Given the description of an element on the screen output the (x, y) to click on. 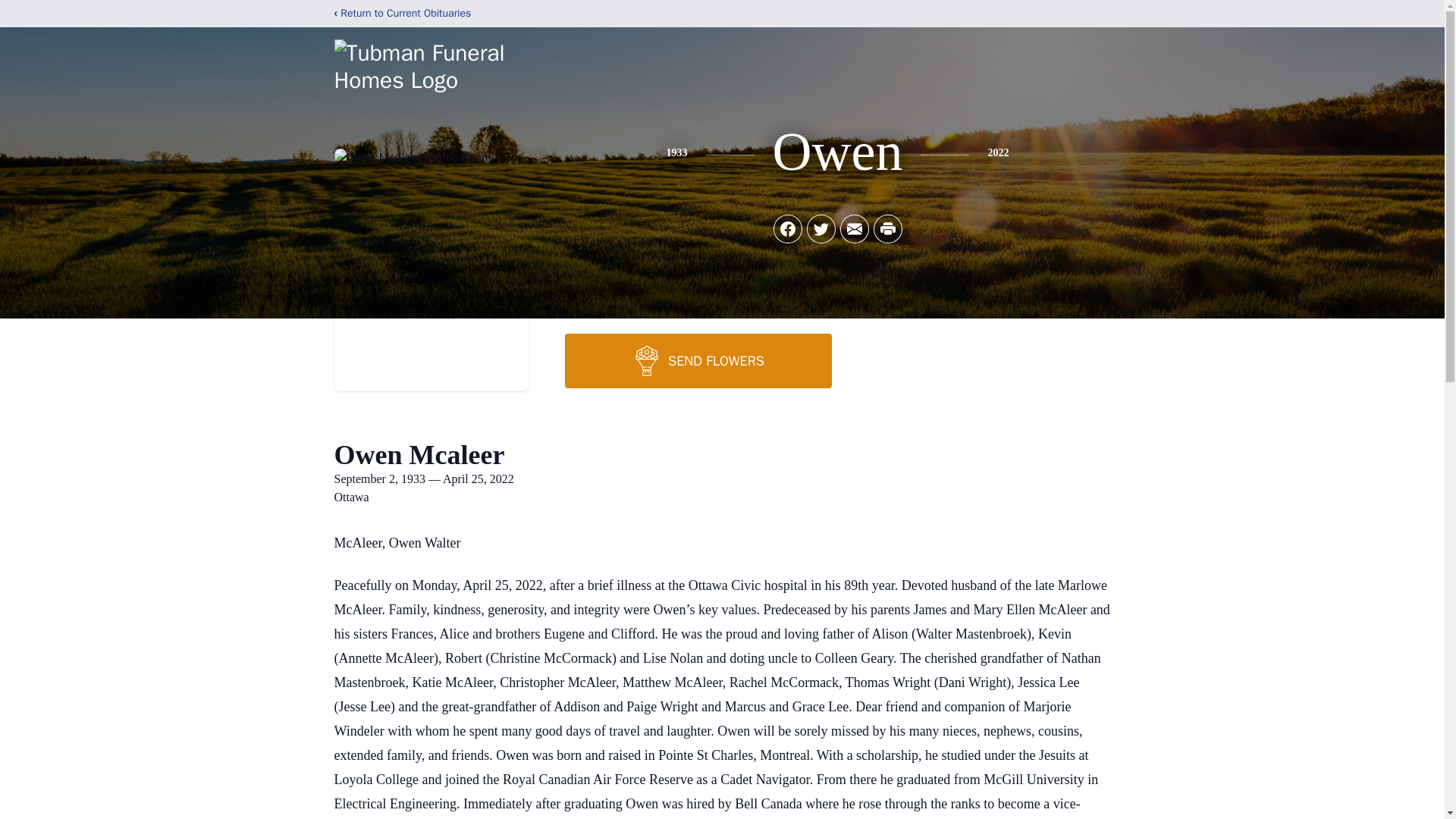
SEND FLOWERS (697, 360)
